Given the description of an element on the screen output the (x, y) to click on. 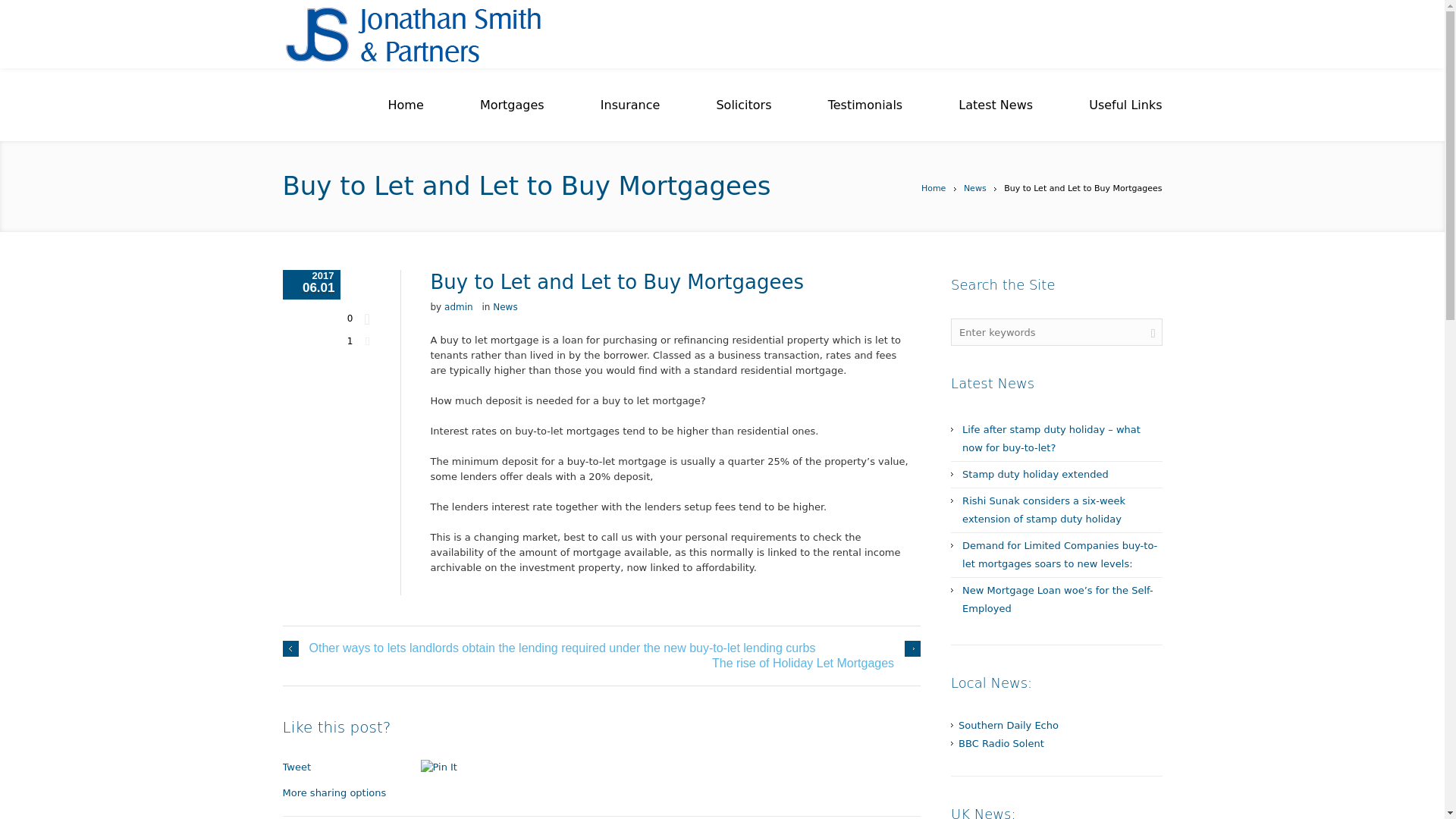
Pin It (454, 767)
admin (458, 307)
More sharing options (333, 792)
The rise of Holiday Let Mortgages (815, 663)
Home (405, 105)
Tweet (296, 767)
Home (932, 188)
June 1, 2017 (310, 284)
News (975, 188)
